Given the description of an element on the screen output the (x, y) to click on. 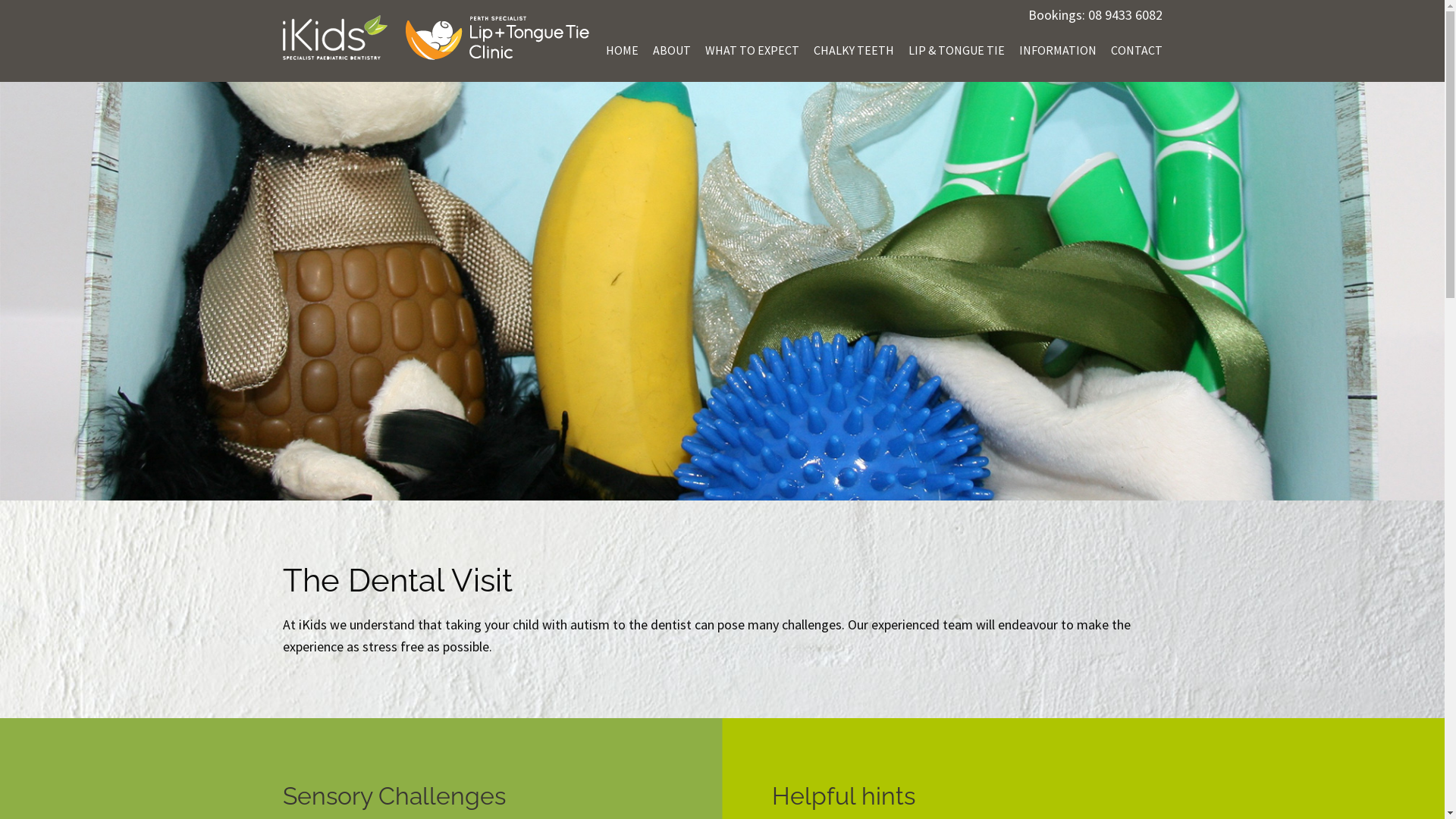
iKIDS Element type: hover (334, 37)
CONTACT Element type: text (1135, 50)
Bookings: 08 9433 6082 Element type: text (1095, 14)
CHALKY TEETH Element type: text (852, 50)
ABOUT Element type: text (671, 50)
WHAT TO EXPECT Element type: text (752, 50)
INFORMATION Element type: text (1057, 50)
LIP & TONGUE TIE Element type: text (956, 50)
image-managing2 Element type: hover (722, 290)
HOME Element type: text (621, 50)
